Given the description of an element on the screen output the (x, y) to click on. 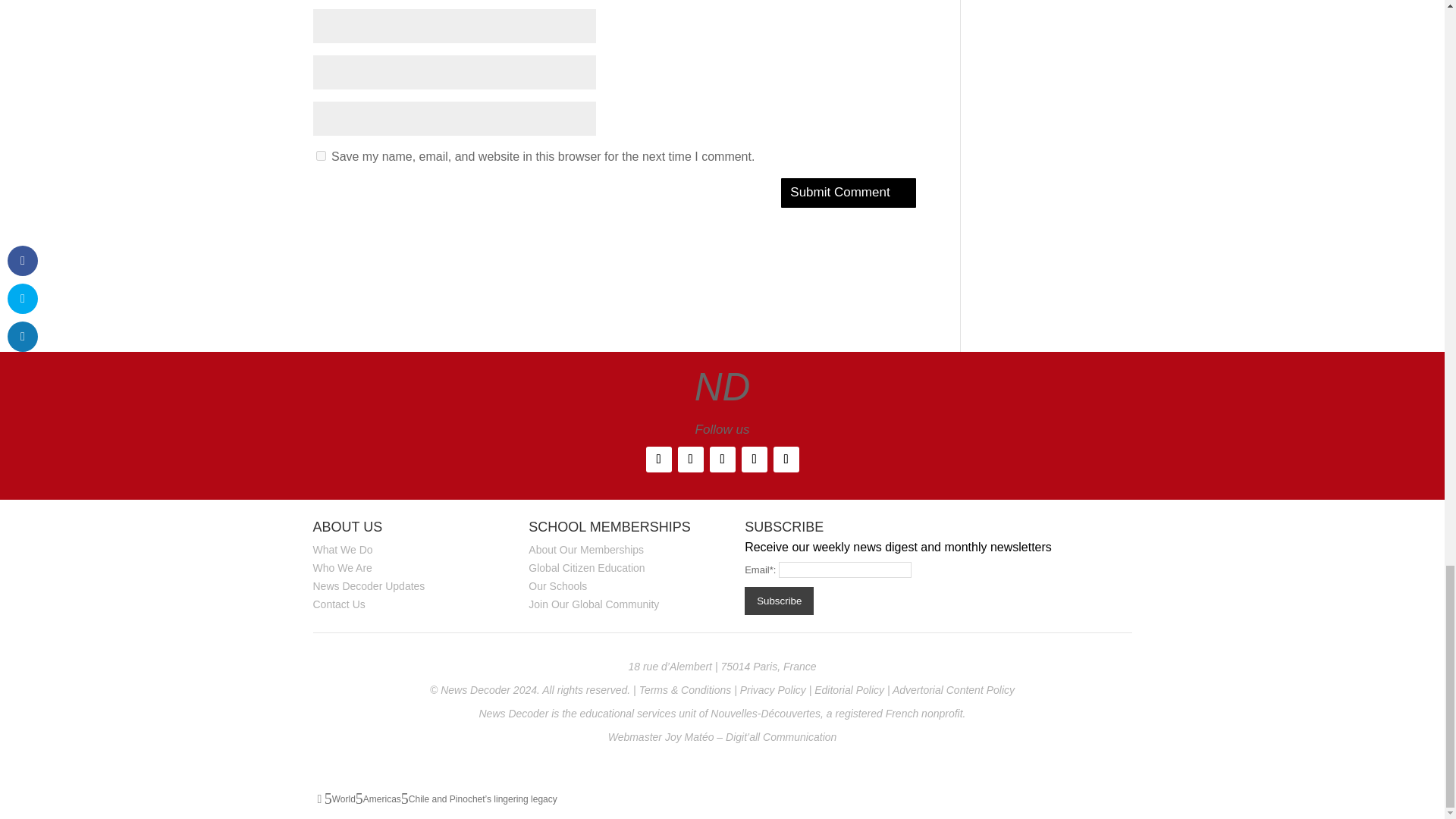
Submit Comment (847, 193)
Follow on X (690, 459)
Follow on Instagram (722, 459)
Follow on LinkedIn (754, 459)
Follow on Facebook (658, 459)
Follow on Youtube (786, 459)
yes (319, 155)
